Given the description of an element on the screen output the (x, y) to click on. 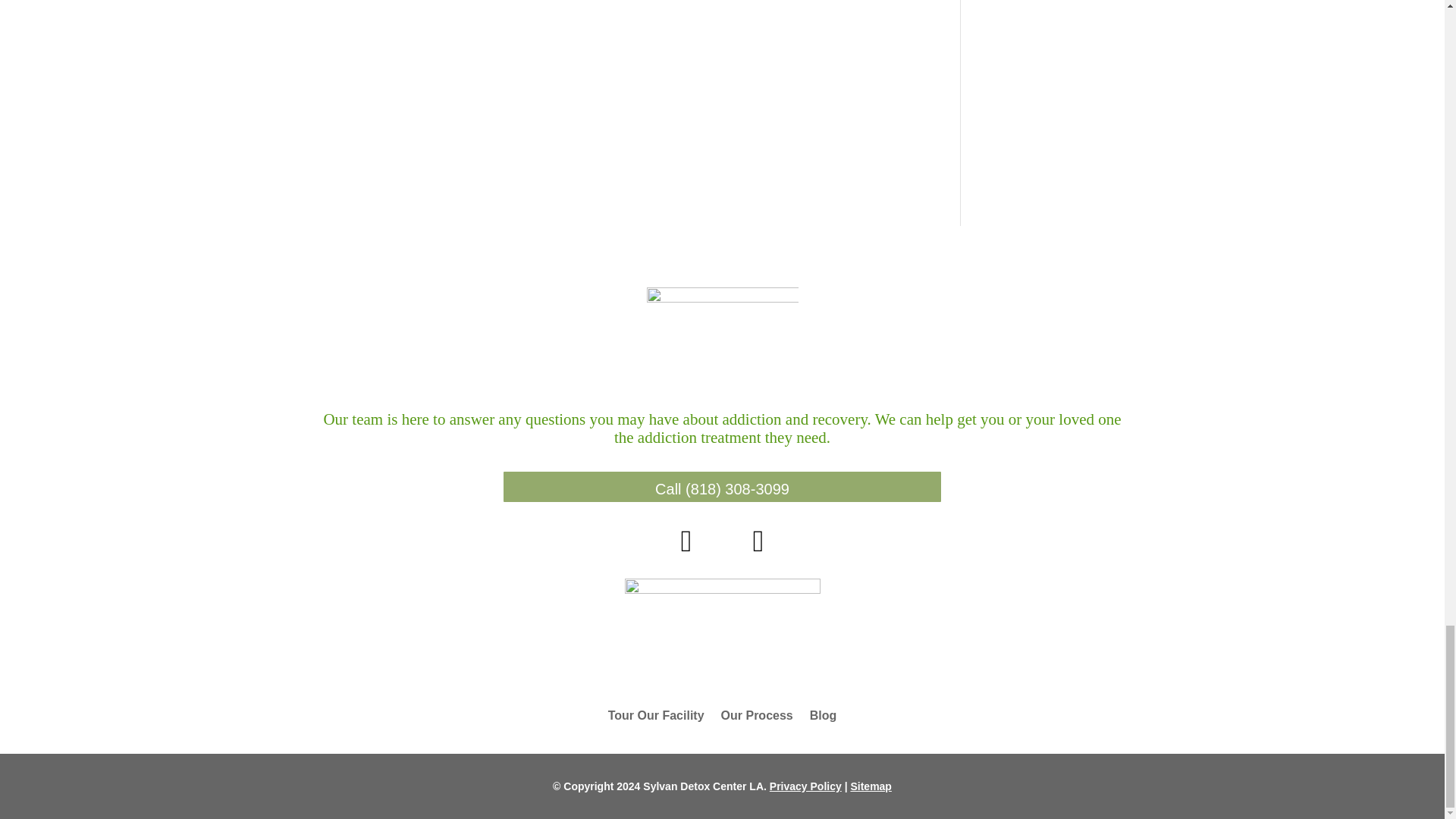
image001 (721, 338)
How Much Does Rehab Cost in Los Angeles (687, 547)
How Much Does Rehab Cost in Los Angeles (758, 547)
Approval Seals (722, 624)
